Given the description of an element on the screen output the (x, y) to click on. 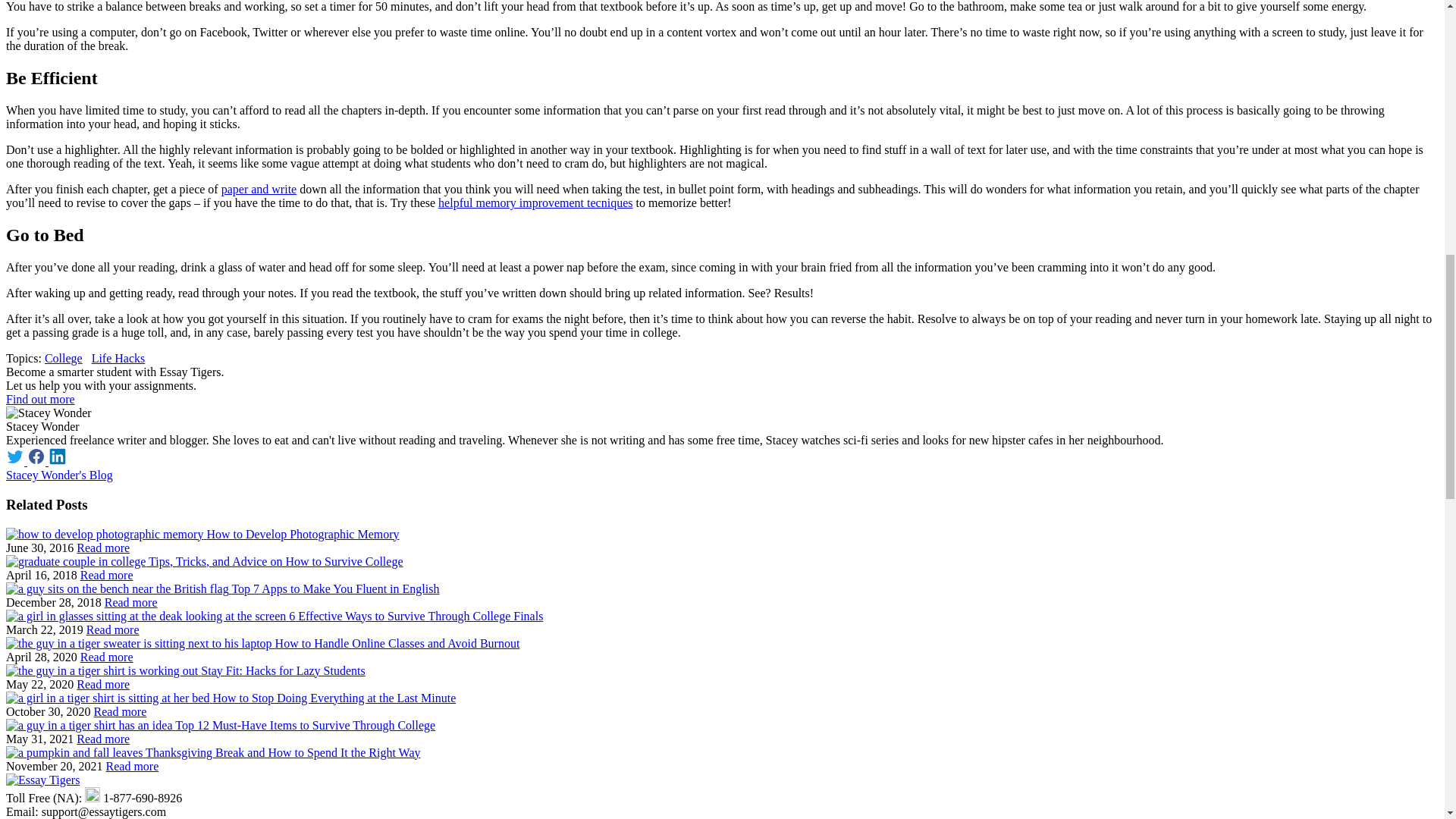
Top 7 Apps to Make You Fluent in English (130, 602)
Thanksgiving Break and How to Spend It the Right Way (132, 766)
paper and write (259, 188)
Stacey Wonder's Blog (59, 474)
Find out more (40, 399)
Stay Fit: Hacks for Lazy Students (103, 684)
6 Effective Ways to Survive Through College Finals (112, 629)
How to Handle Online Classes and Avoid Burnout (106, 656)
Top 12 Must-Have Items to Survive Through College (103, 738)
How to Develop Photographic Memory (103, 547)
Tips, Tricks, and Advice on How to Survive College (106, 574)
Life Hacks (118, 358)
How to Stop Doing Everything at the Last Minute (120, 711)
helpful memory improvement tecniques (534, 202)
College (63, 358)
